Given the description of an element on the screen output the (x, y) to click on. 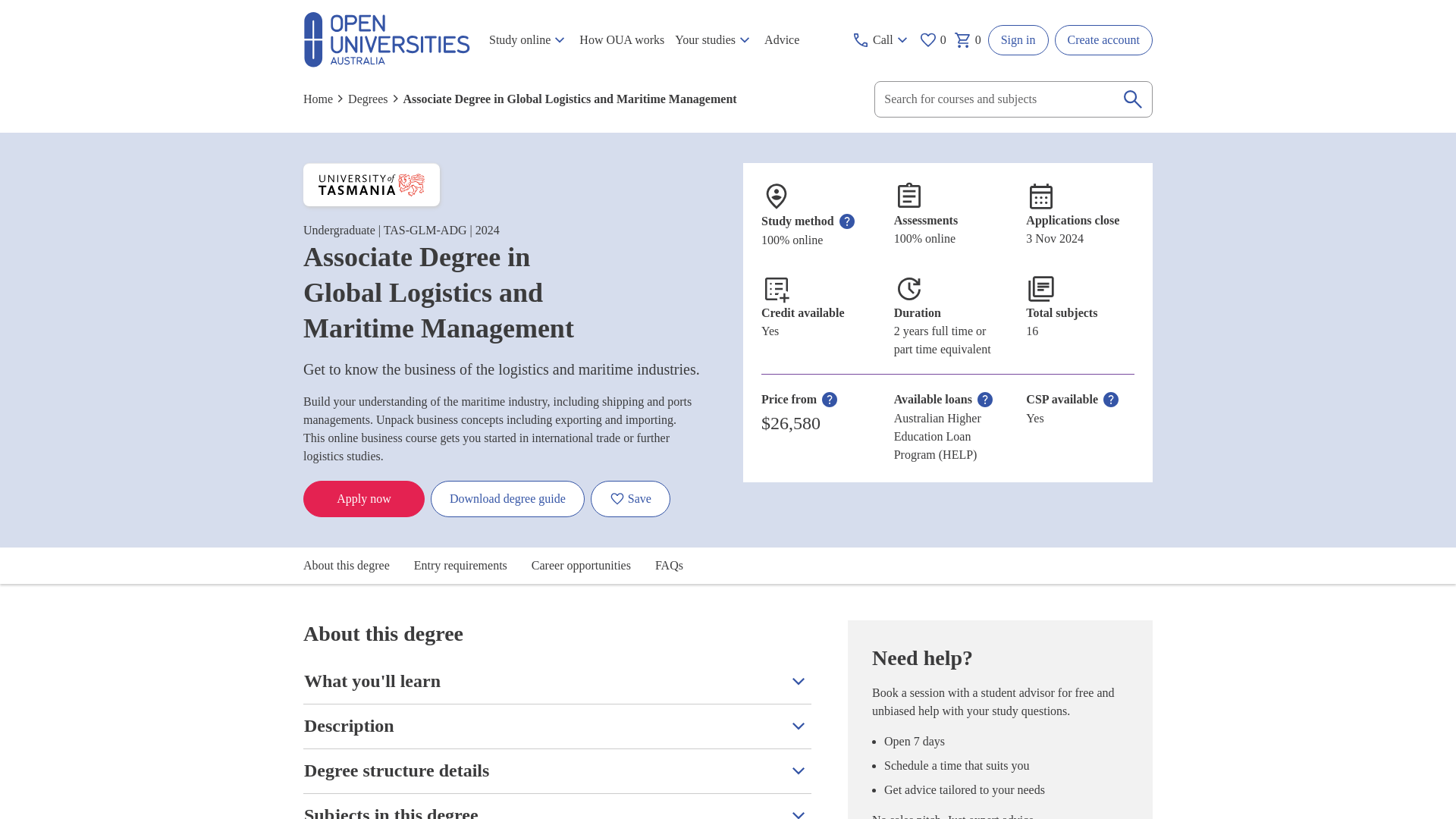
Your studies (714, 40)
Study online (528, 40)
How OUA works (621, 40)
